Given the description of an element on the screen output the (x, y) to click on. 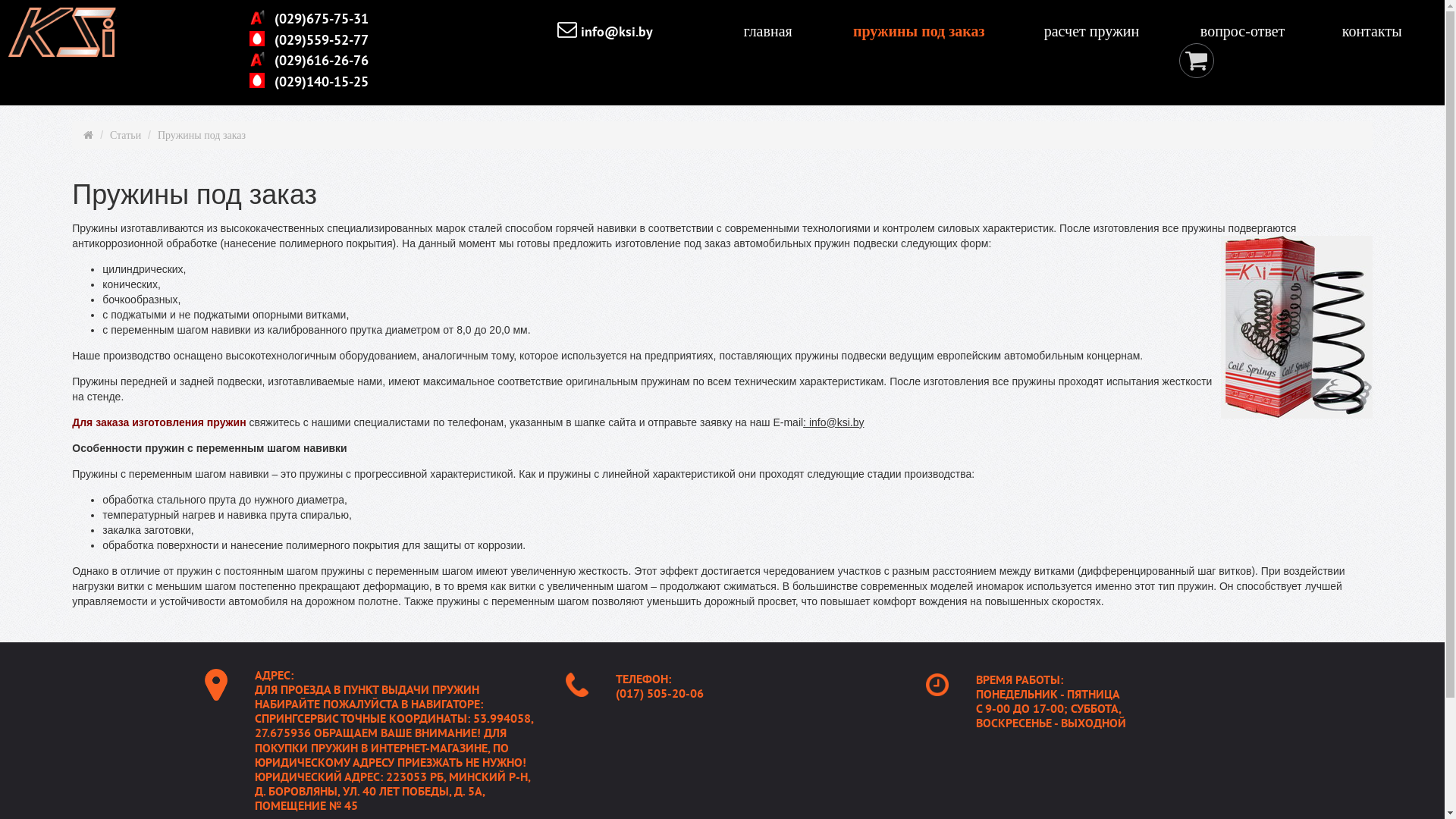
 (029)675-75-31 Element type: text (319, 19)
 (029)140-15-25 Element type: text (319, 82)
 (029)559-52-77 Element type: text (319, 40)
 (029)616-26-76 Element type: text (319, 61)
 info@ksi.by Element type: text (614, 32)
